Given the description of an element on the screen output the (x, y) to click on. 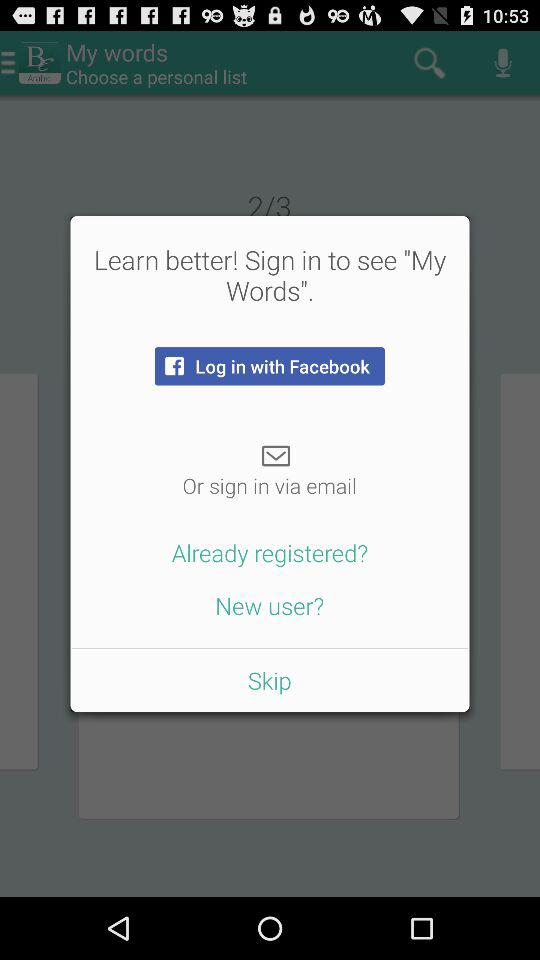
jump until skip item (269, 680)
